Given the description of an element on the screen output the (x, y) to click on. 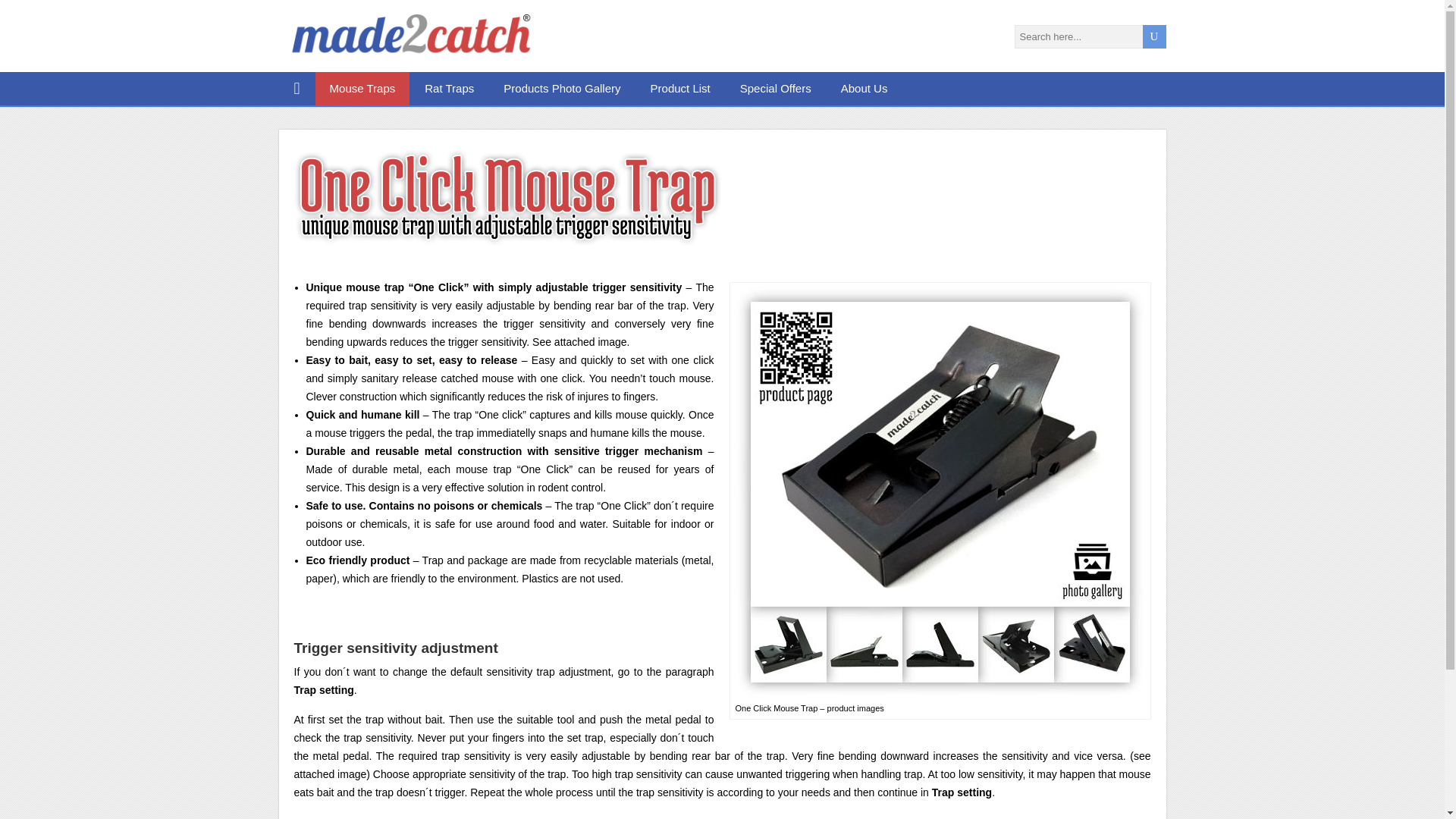
Special Offers (776, 88)
U (1153, 35)
Mouse Traps (362, 88)
U (1153, 35)
About Us (864, 88)
Products Photo Gallery (561, 88)
U (1153, 35)
Product List (680, 88)
Rat Traps (449, 88)
